Given the description of an element on the screen output the (x, y) to click on. 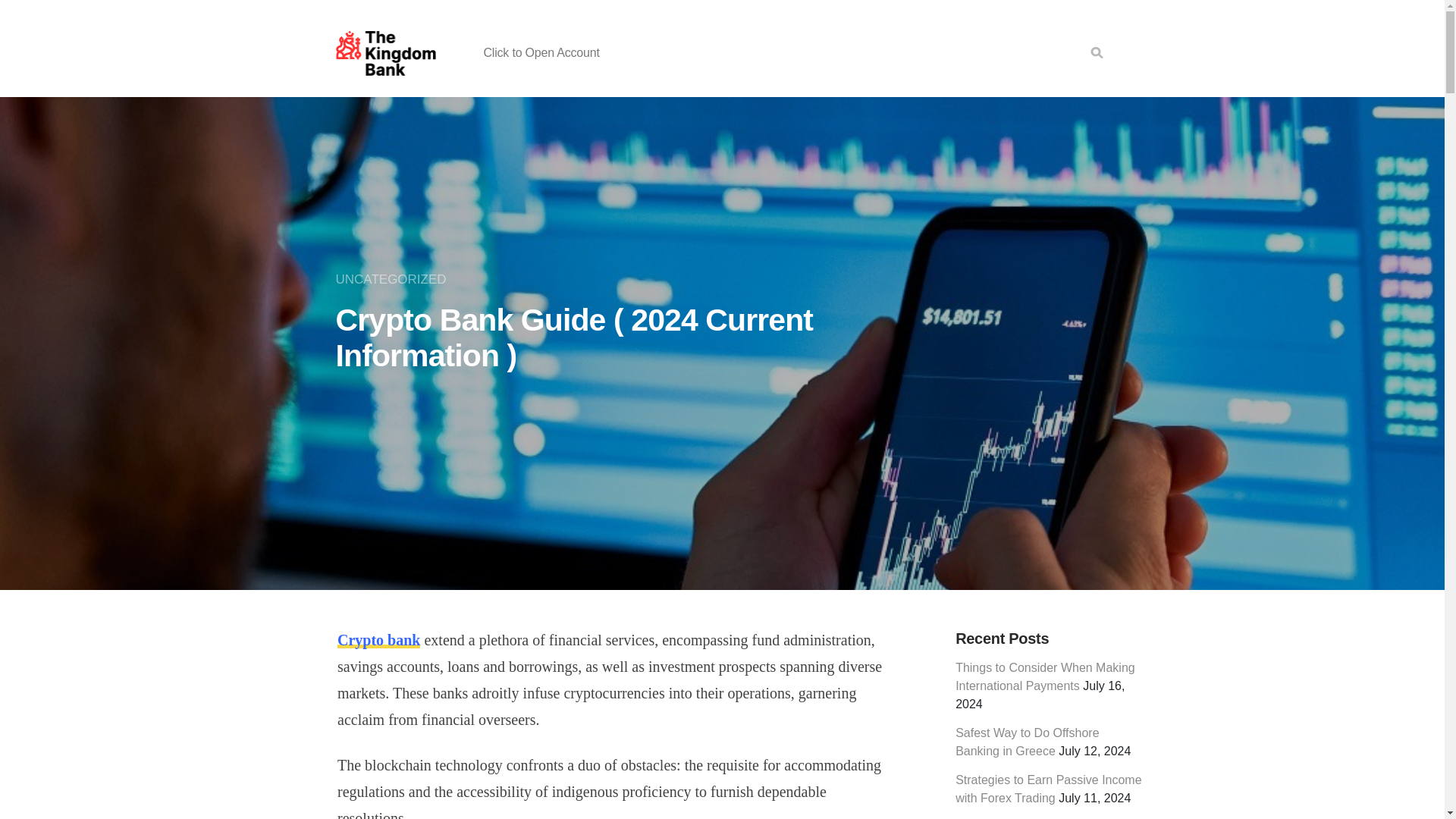
Strategies to Earn Passive Income with Forex Trading (1048, 788)
UNCATEGORIZED (393, 278)
Crypto bank (378, 639)
Things to Consider When Making International Payments (1045, 676)
Uncategorized (393, 278)
Safest Way to Do Offshore Banking in Greece (1027, 741)
Click to Open Account (541, 51)
